Given the description of an element on the screen output the (x, y) to click on. 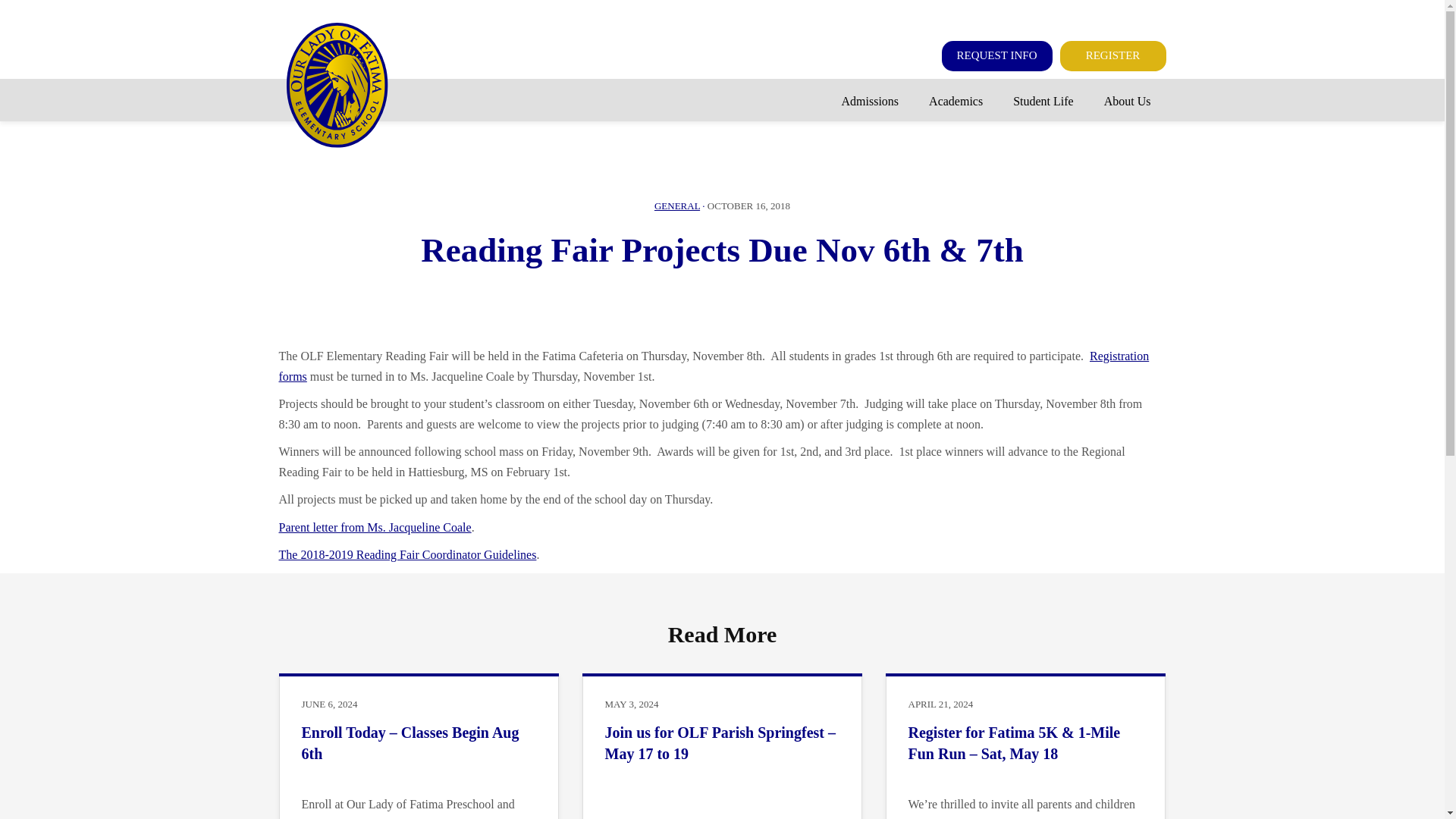
About Us (1127, 101)
REGISTER (1112, 55)
Registration forms (714, 366)
OCTOBER 16, 2018 (748, 205)
Student Life (1042, 101)
Admissions (870, 101)
Academics (955, 101)
GENERAL (676, 205)
REQUEST INFO (997, 55)
